Given the description of an element on the screen output the (x, y) to click on. 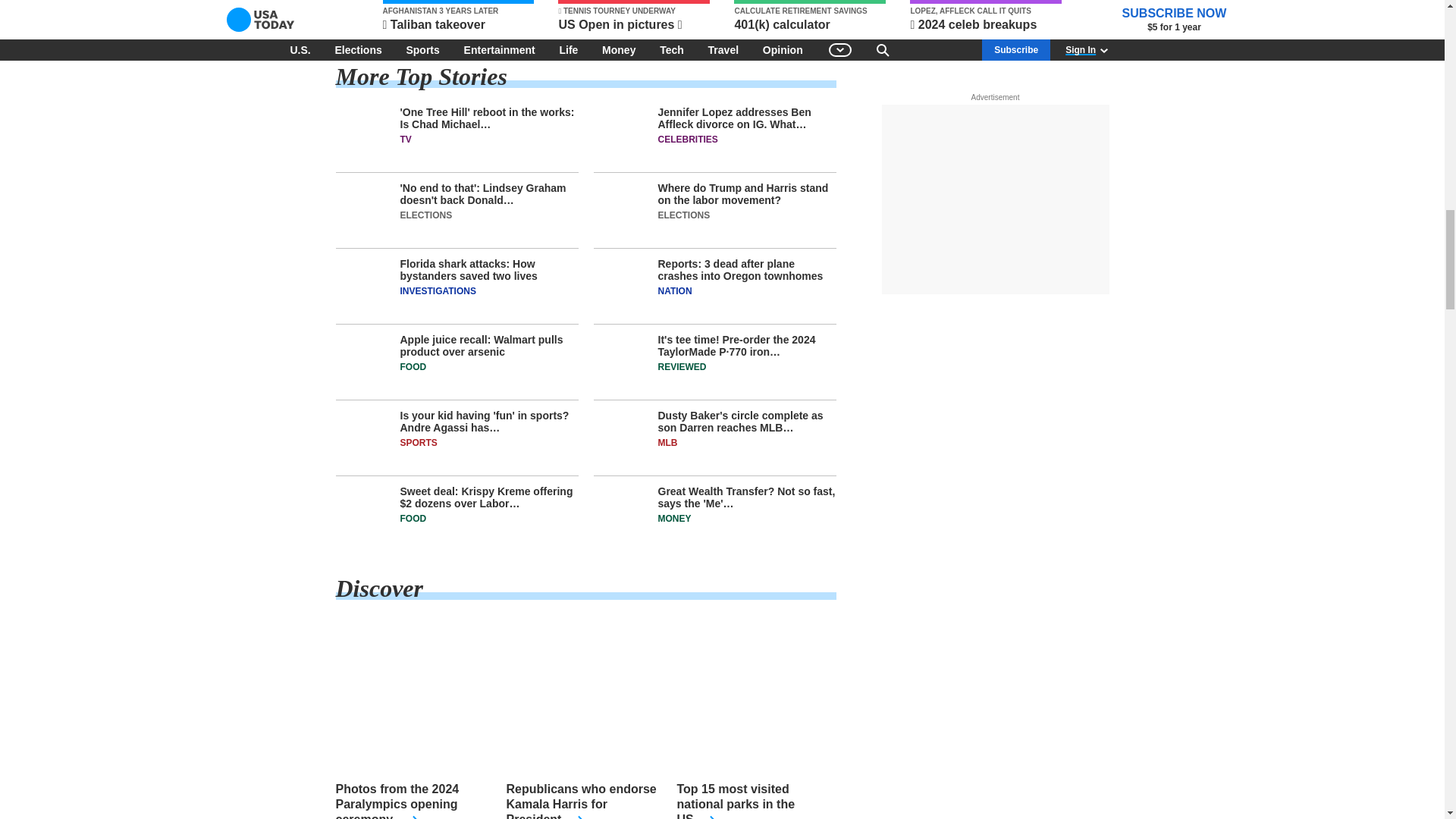
Great Wealth Transfer? Not so fast, says the 'Me' generation (713, 513)
Is your kid having 'fun' in sports? Andre Agassi has advice (456, 442)
